Given the description of an element on the screen output the (x, y) to click on. 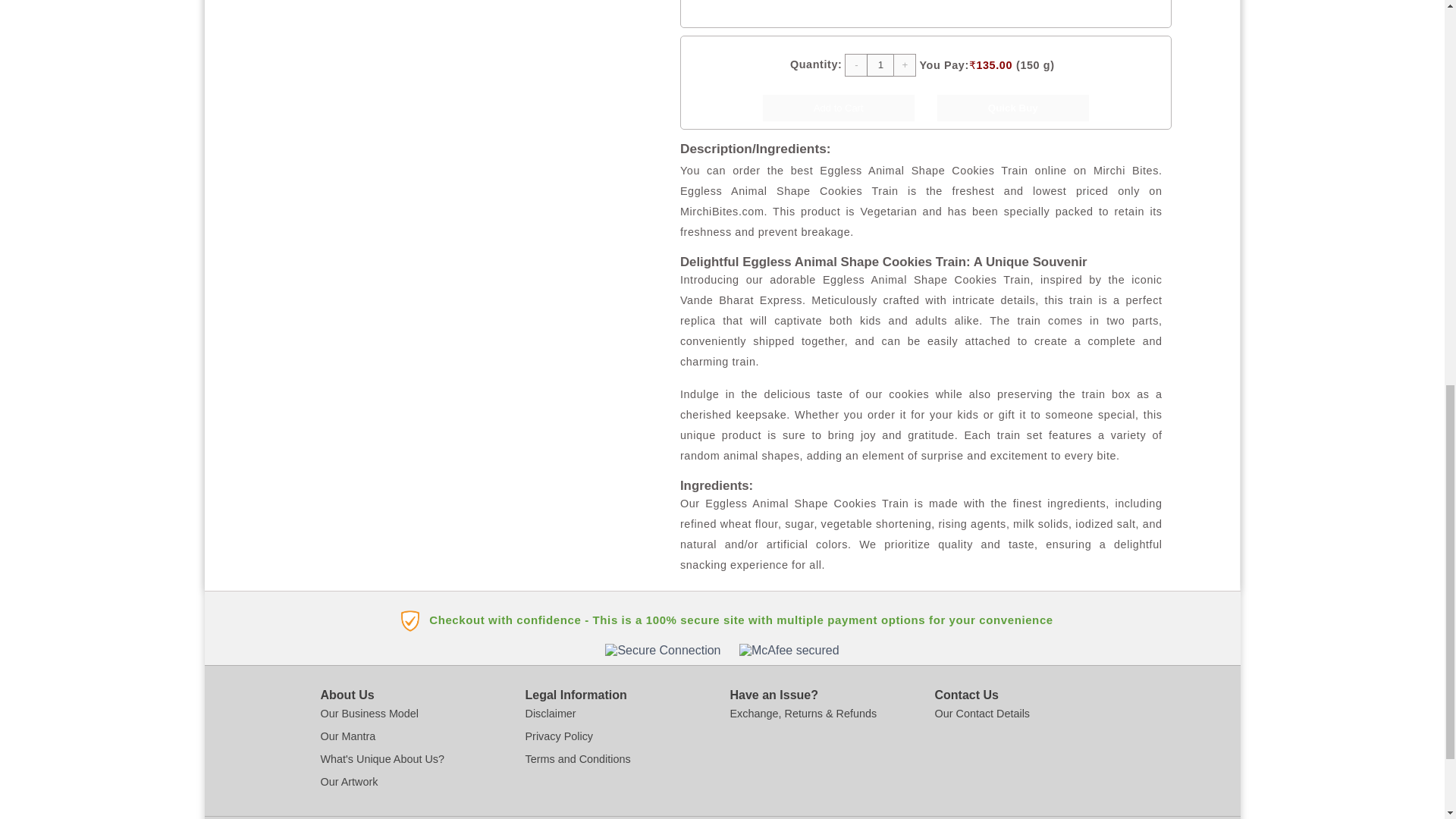
1 (879, 65)
Add to Cart (838, 108)
McAfee secured (789, 650)
Secure connection (662, 650)
- (855, 65)
